Given the description of an element on the screen output the (x, y) to click on. 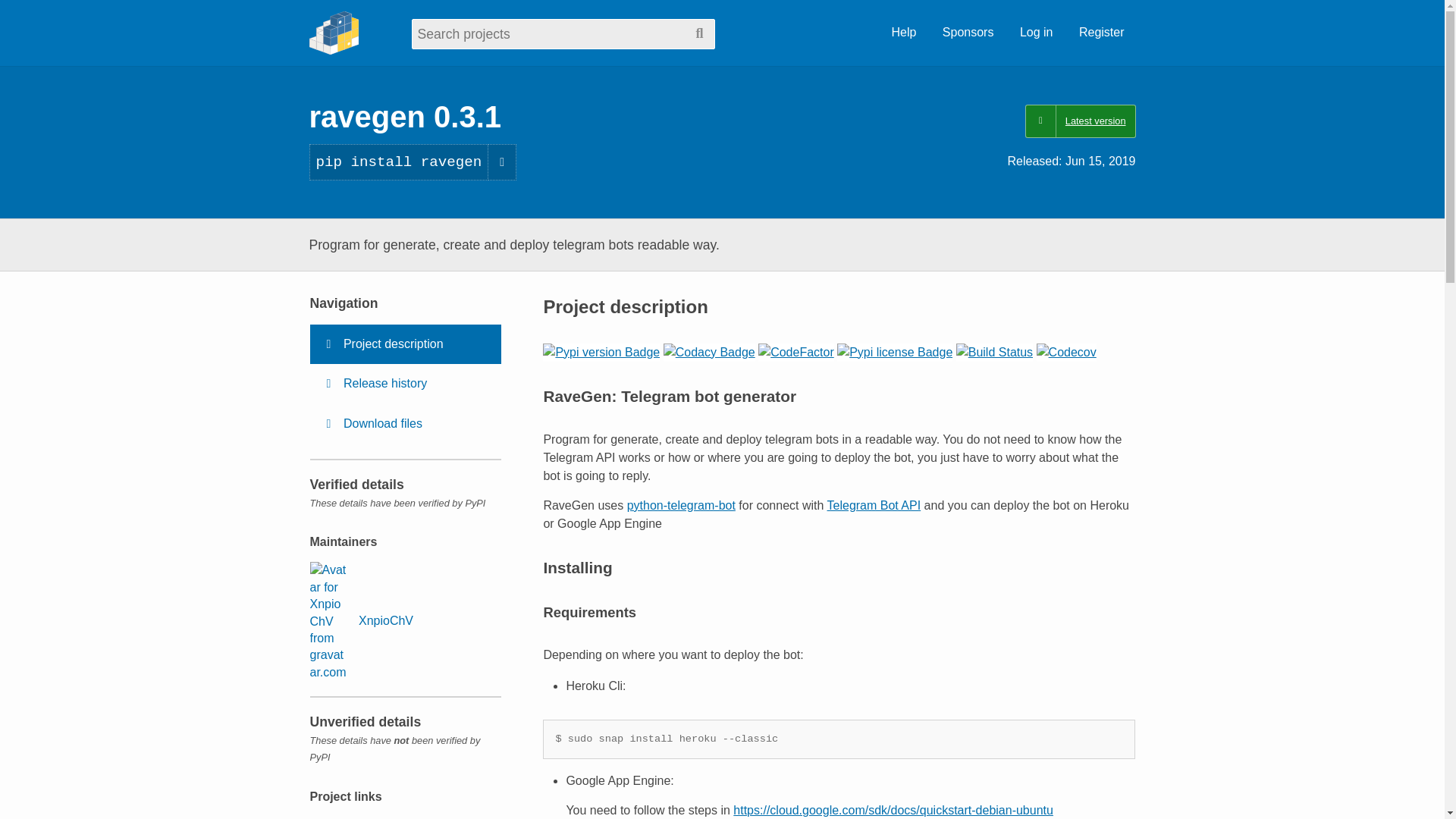
Register (1101, 32)
Sponsors (968, 32)
Download files (404, 423)
Latest version (1080, 121)
Release history (404, 383)
Project description (404, 343)
python-telegram-bot (681, 504)
Search (699, 33)
